Given the description of an element on the screen output the (x, y) to click on. 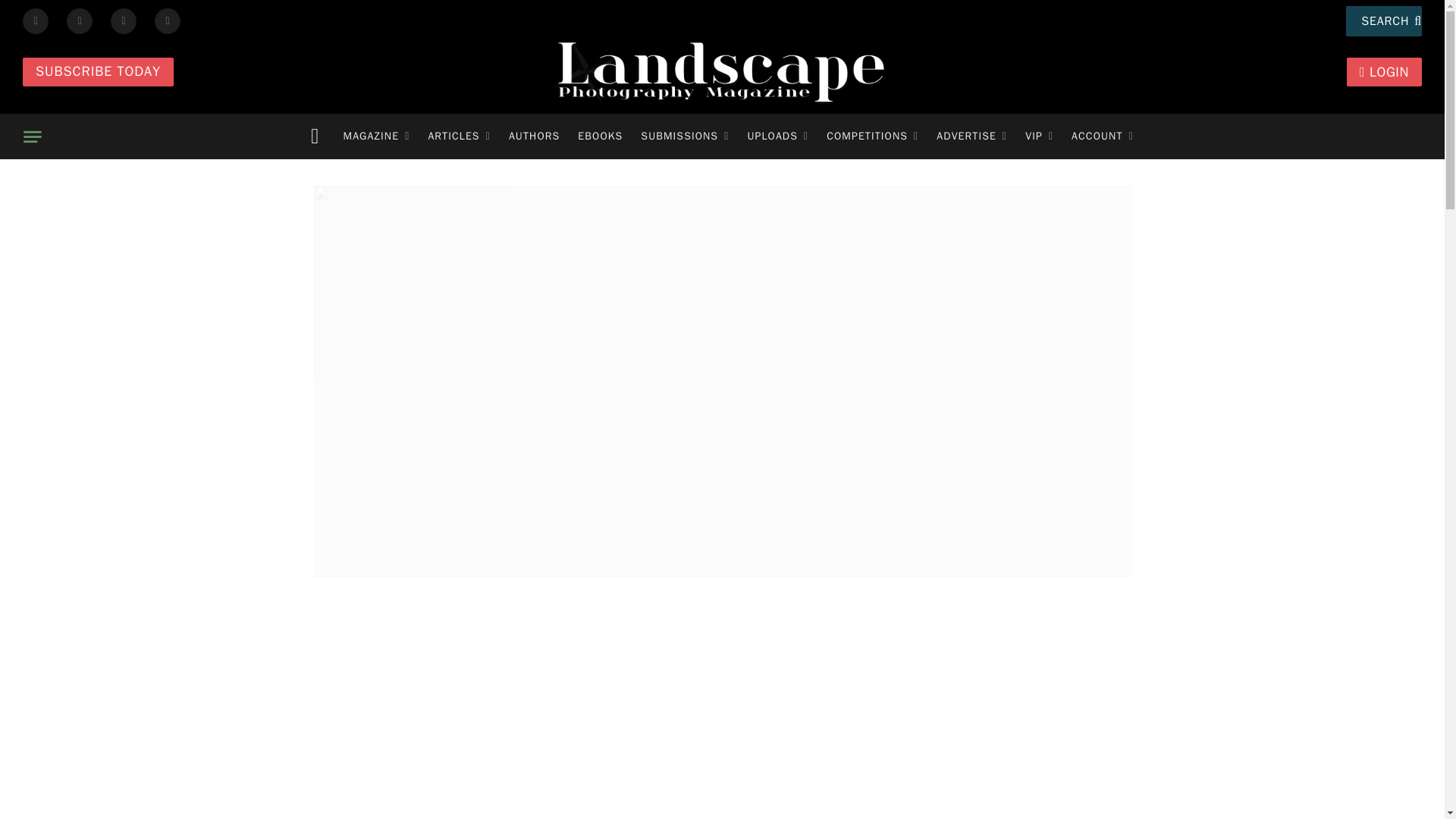
SEARCH (1383, 20)
SUBSCRIBE TODAY (98, 71)
Search (1383, 20)
LOGIN (1384, 71)
UPLOADS (777, 135)
ARTICLES (459, 135)
EBOOKS (600, 135)
MAGAZINE (376, 135)
Facebook (35, 20)
Instagram (123, 20)
SUBMISSIONS (684, 135)
Twitter (79, 20)
AUTHORS (534, 135)
Flickr (167, 20)
